Given the description of an element on the screen output the (x, y) to click on. 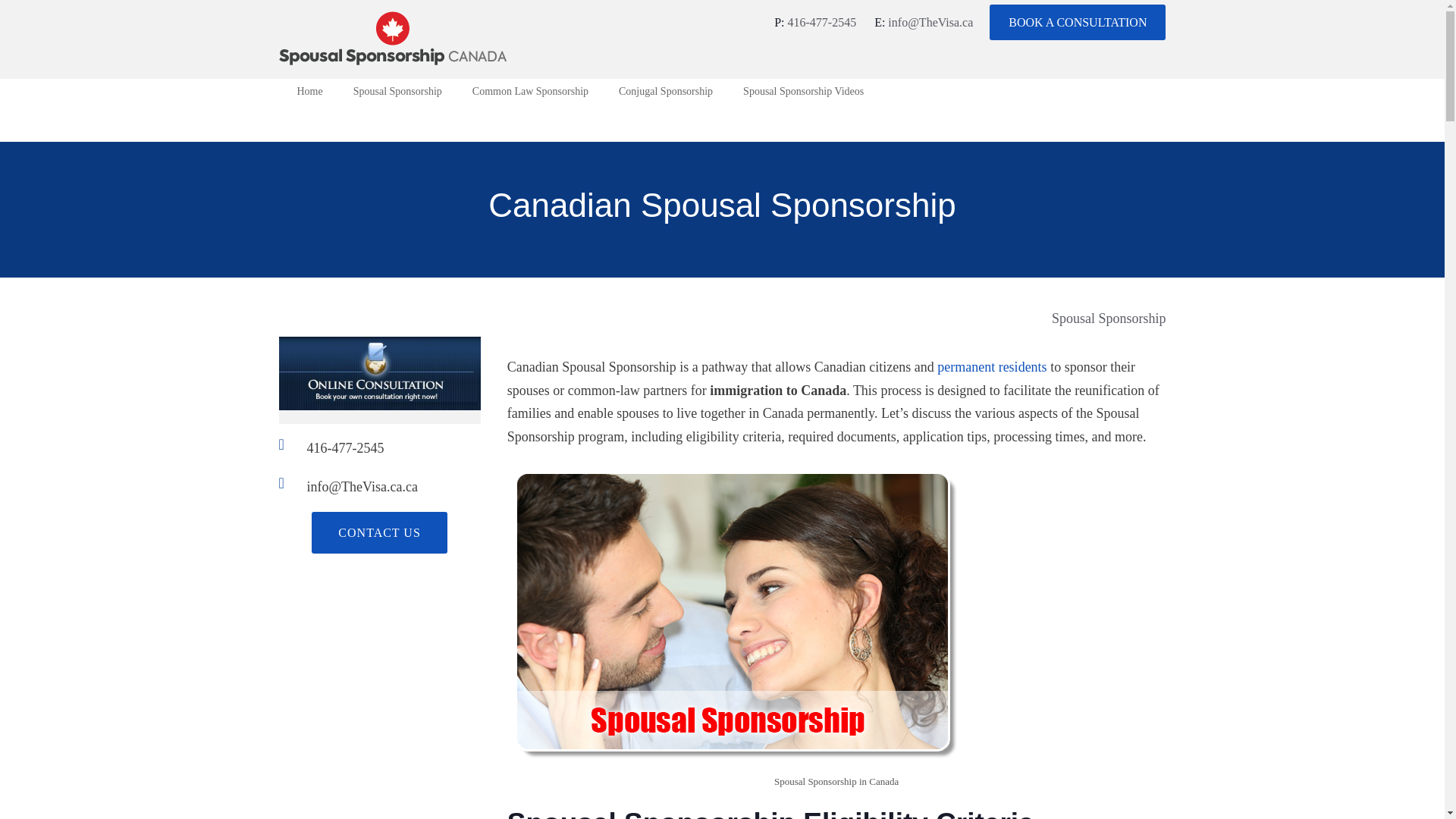
Book a Consultation Today (379, 397)
Conjugal Sponsorship (665, 94)
CONTACT US (378, 532)
Common Law Sponsorship (529, 94)
permanent residents (991, 366)
Spousal Sponsorship Videos (802, 94)
Spousal Sponsorship (1108, 318)
Spousal Sponsorship (397, 94)
416-477-2545 (821, 21)
Home (310, 94)
BOOK A CONSULTATION (1078, 22)
